Given the description of an element on the screen output the (x, y) to click on. 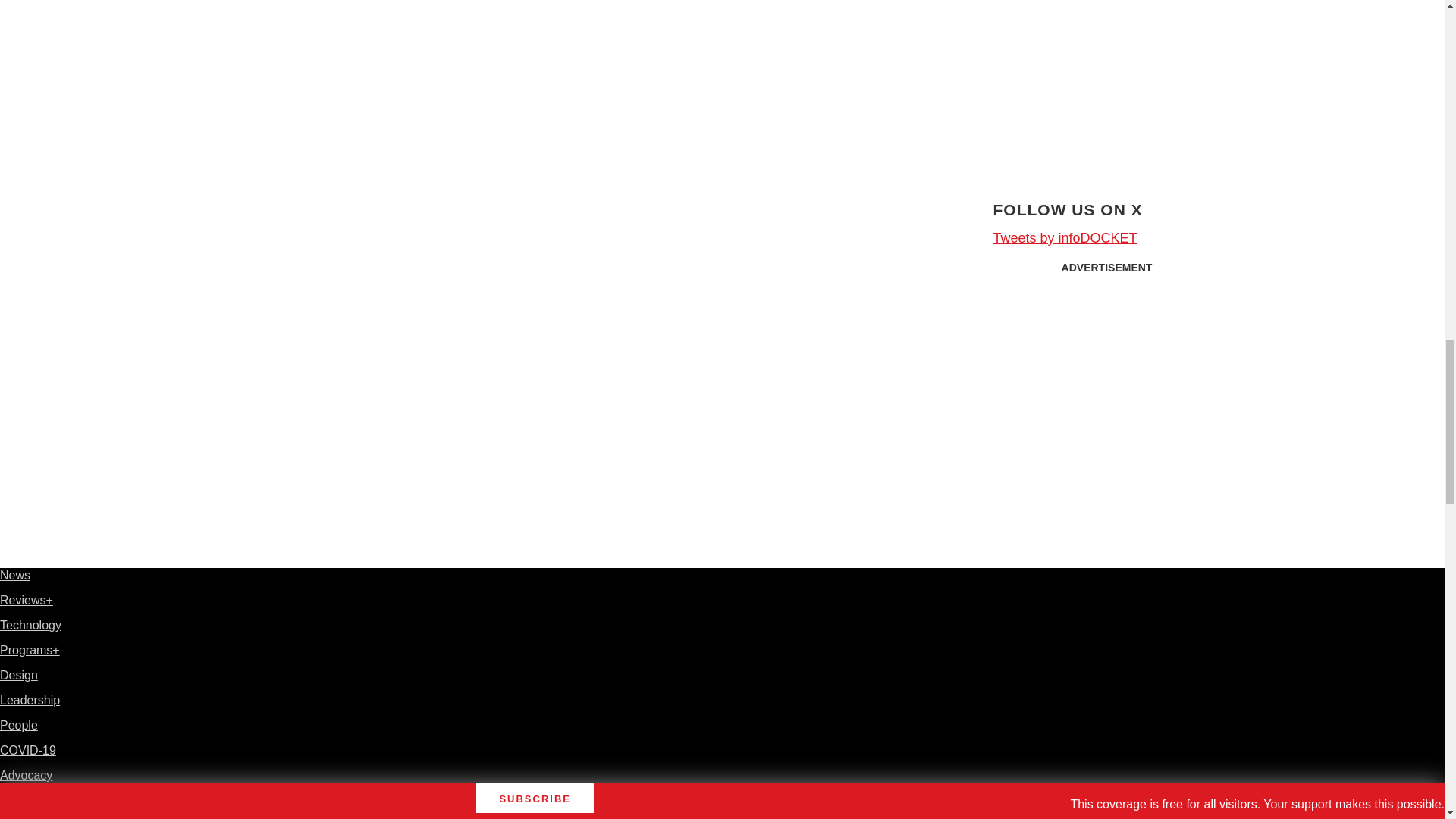
3rd party ad content (1106, 376)
3rd party ad content (1106, 81)
